Given the description of an element on the screen output the (x, y) to click on. 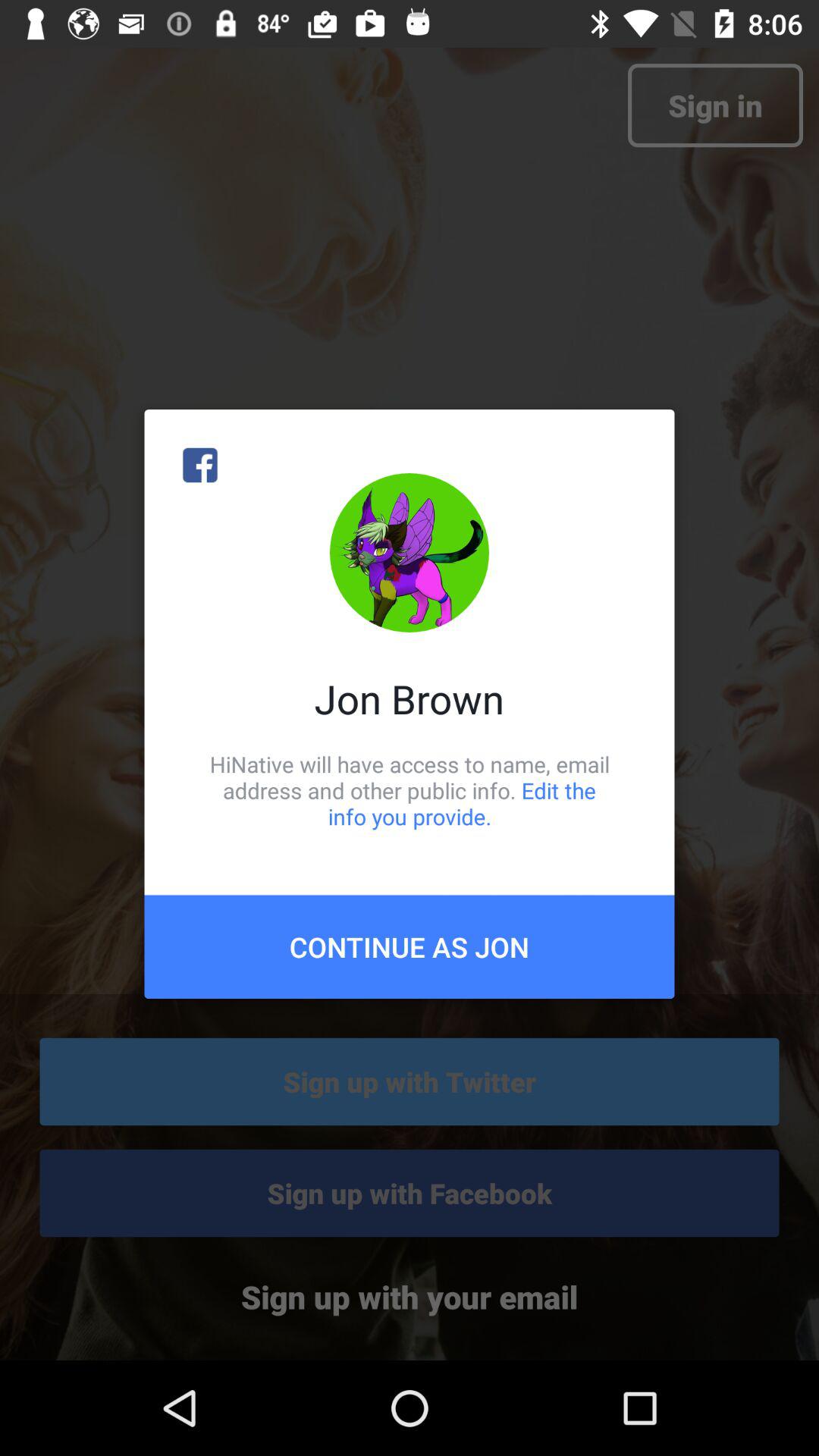
turn on continue as jon icon (409, 946)
